Given the description of an element on the screen output the (x, y) to click on. 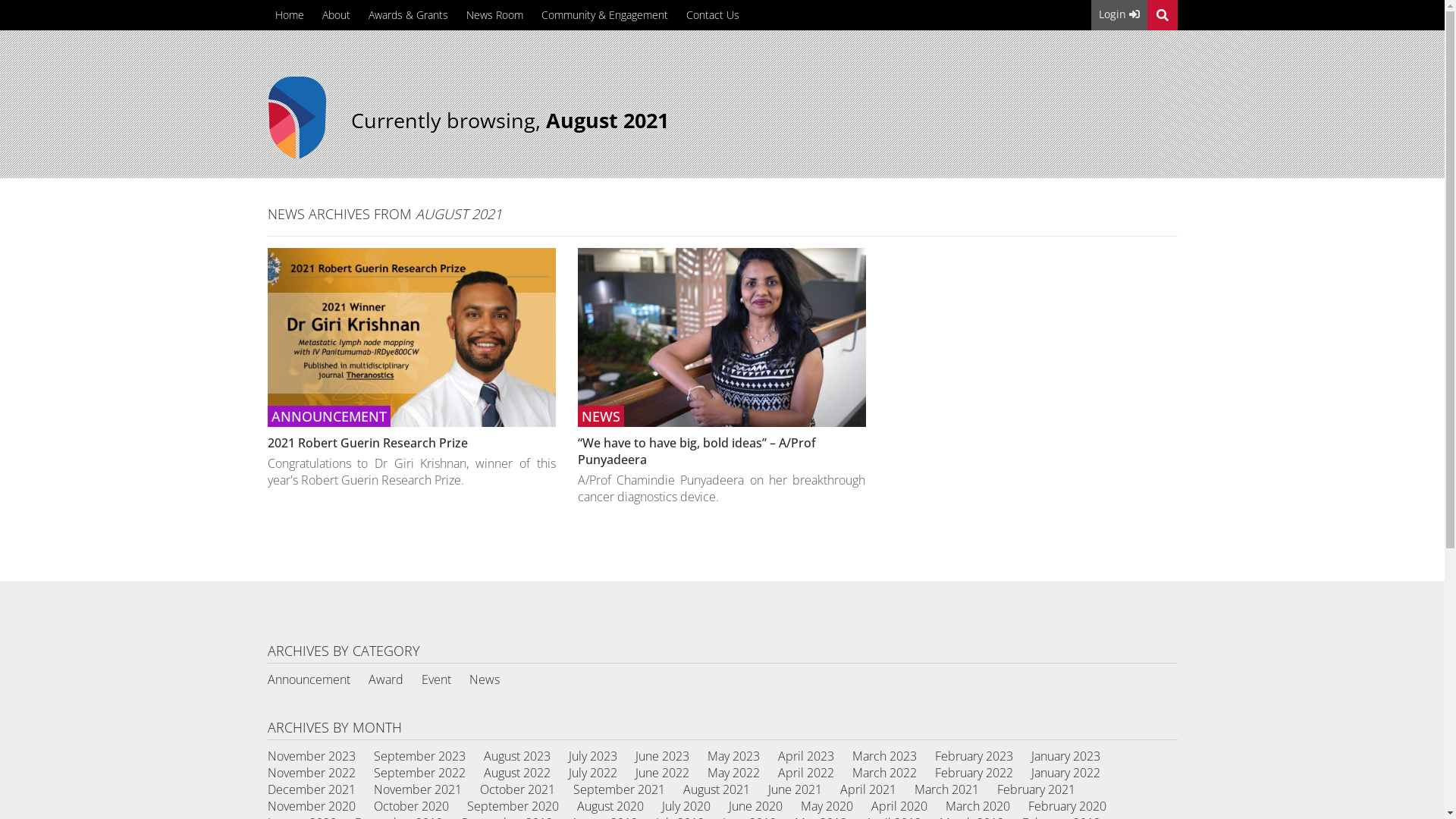
February 2022 Element type: text (973, 772)
September 2022 Element type: text (418, 772)
Contact Us Element type: text (711, 14)
November 2022 Element type: text (310, 772)
July 2023 Element type: text (592, 755)
Community & Engagement Element type: text (604, 14)
April 2021 Element type: text (868, 789)
Announcement Element type: text (307, 679)
April 2022 Element type: text (806, 772)
May 2022 Element type: text (732, 772)
April 2020 Element type: text (898, 805)
Home Element type: text (288, 14)
February 2021 Element type: text (1035, 789)
ANNOUNCEMENT Element type: text (410, 336)
March 2021 Element type: text (946, 789)
June 2023 Element type: text (662, 755)
About Element type: text (335, 14)
Event Element type: text (436, 679)
June 2022 Element type: text (662, 772)
November 2020 Element type: text (310, 805)
June 2021 Element type: text (794, 789)
March 2020 Element type: text (976, 805)
June 2020 Element type: text (754, 805)
September 2023 Element type: text (418, 755)
May 2020 Element type: text (826, 805)
August 2022 Element type: text (516, 772)
August 2021 Element type: text (715, 789)
March 2022 Element type: text (884, 772)
November 2023 Element type: text (310, 755)
May 2023 Element type: text (732, 755)
April 2023 Element type: text (806, 755)
NEWS Element type: text (721, 336)
News Element type: text (483, 679)
January 2023 Element type: text (1065, 755)
July 2022 Element type: text (592, 772)
January 2022 Element type: text (1065, 772)
February 2020 Element type: text (1067, 805)
October 2020 Element type: text (410, 805)
September 2020 Element type: text (512, 805)
Login Element type: text (1118, 15)
October 2021 Element type: text (516, 789)
December 2021 Element type: text (310, 789)
Award Element type: text (385, 679)
August 2023 Element type: text (516, 755)
News Room Element type: text (494, 14)
August 2020 Element type: text (609, 805)
November 2021 Element type: text (417, 789)
March 2023 Element type: text (884, 755)
February 2023 Element type: text (973, 755)
Awards & Grants Element type: text (407, 14)
September 2021 Element type: text (619, 789)
July 2020 Element type: text (685, 805)
